Given the description of an element on the screen output the (x, y) to click on. 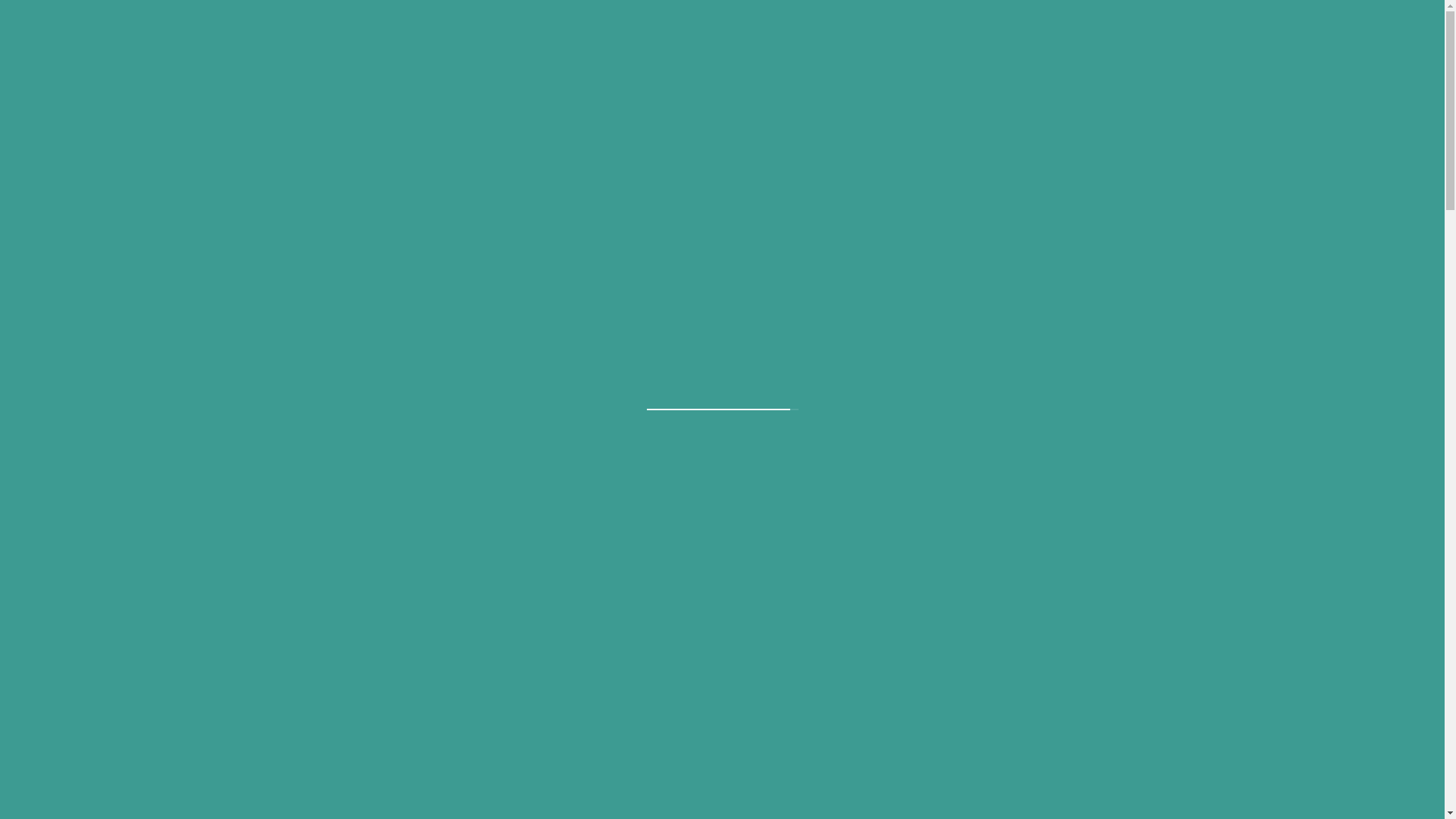
Home Element type: text (883, 315)
Shop Element type: text (1082, 315)
Reserve Element type: text (1351, 315)
Blog Element type: text (1278, 315)
FAQ Element type: text (1143, 315)
Menu Element type: text (1017, 315)
Access Element type: text (1211, 315)
About Element type: text (951, 315)
080-4760-5587 Element type: text (1214, 27)
Reserve Element type: text (1366, 27)
